Given the description of an element on the screen output the (x, y) to click on. 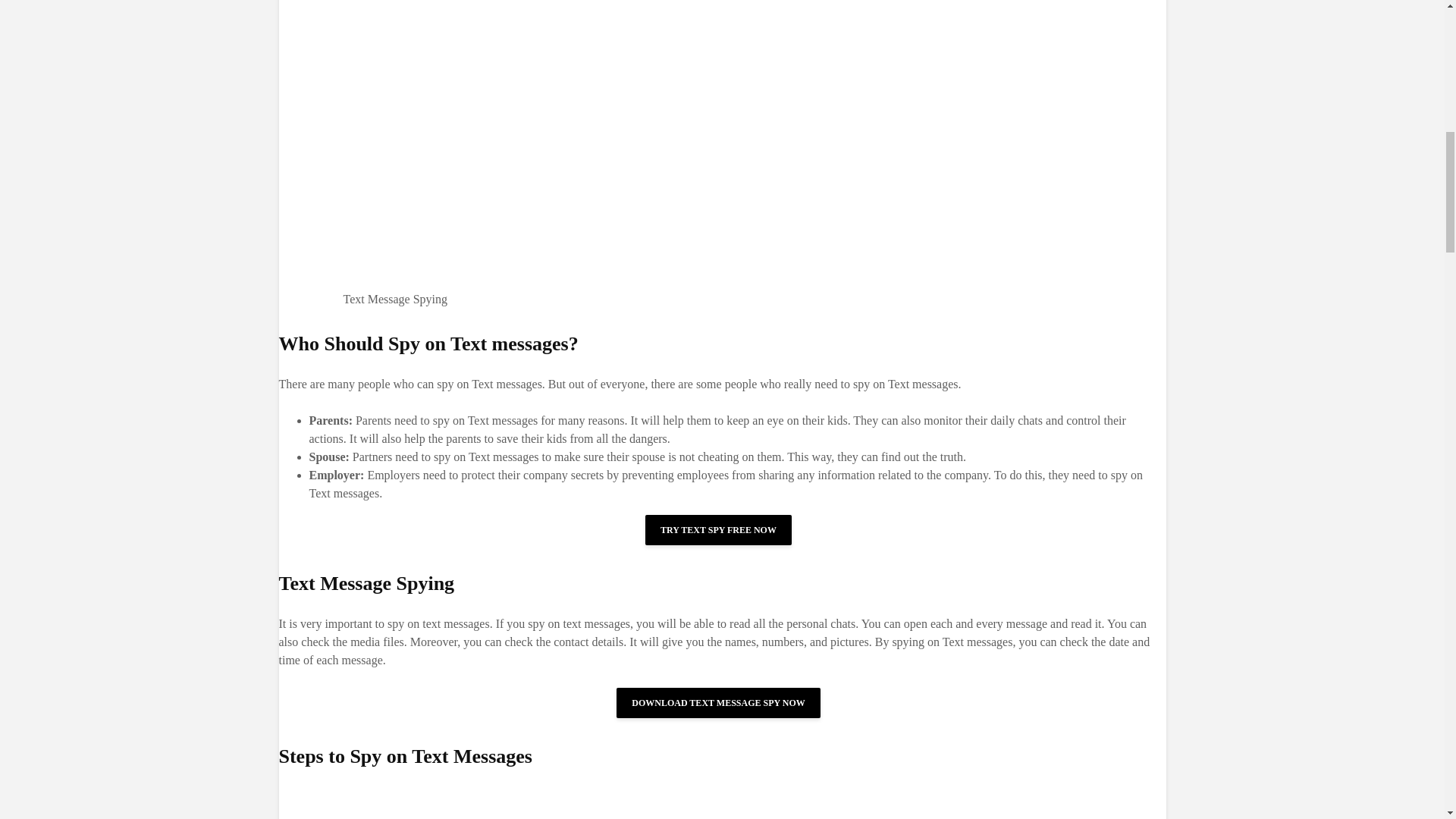
DOWNLOAD TEXT MESSAGE SPY NOW (718, 702)
TRY TEXT SPY FREE NOW (718, 530)
